Given the description of an element on the screen output the (x, y) to click on. 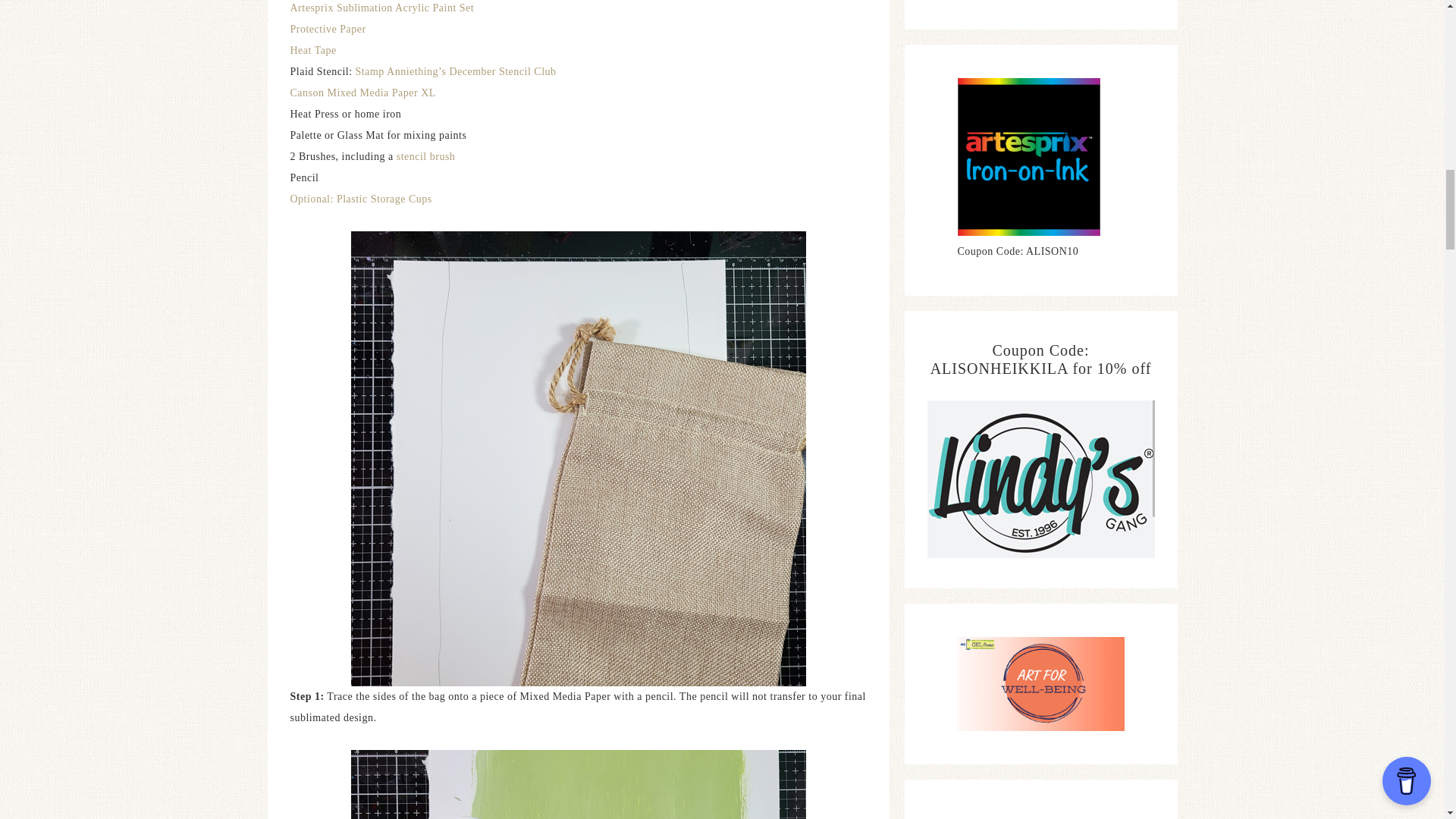
Protective Paper (327, 29)
Artesprix Sublimation Acrylic Paint Set (381, 7)
Heat Tape (312, 50)
Optional: Plastic Storage Cups (359, 198)
Canson Mixed Media Paper XL (362, 92)
stencil brush (425, 156)
